Given the description of an element on the screen output the (x, y) to click on. 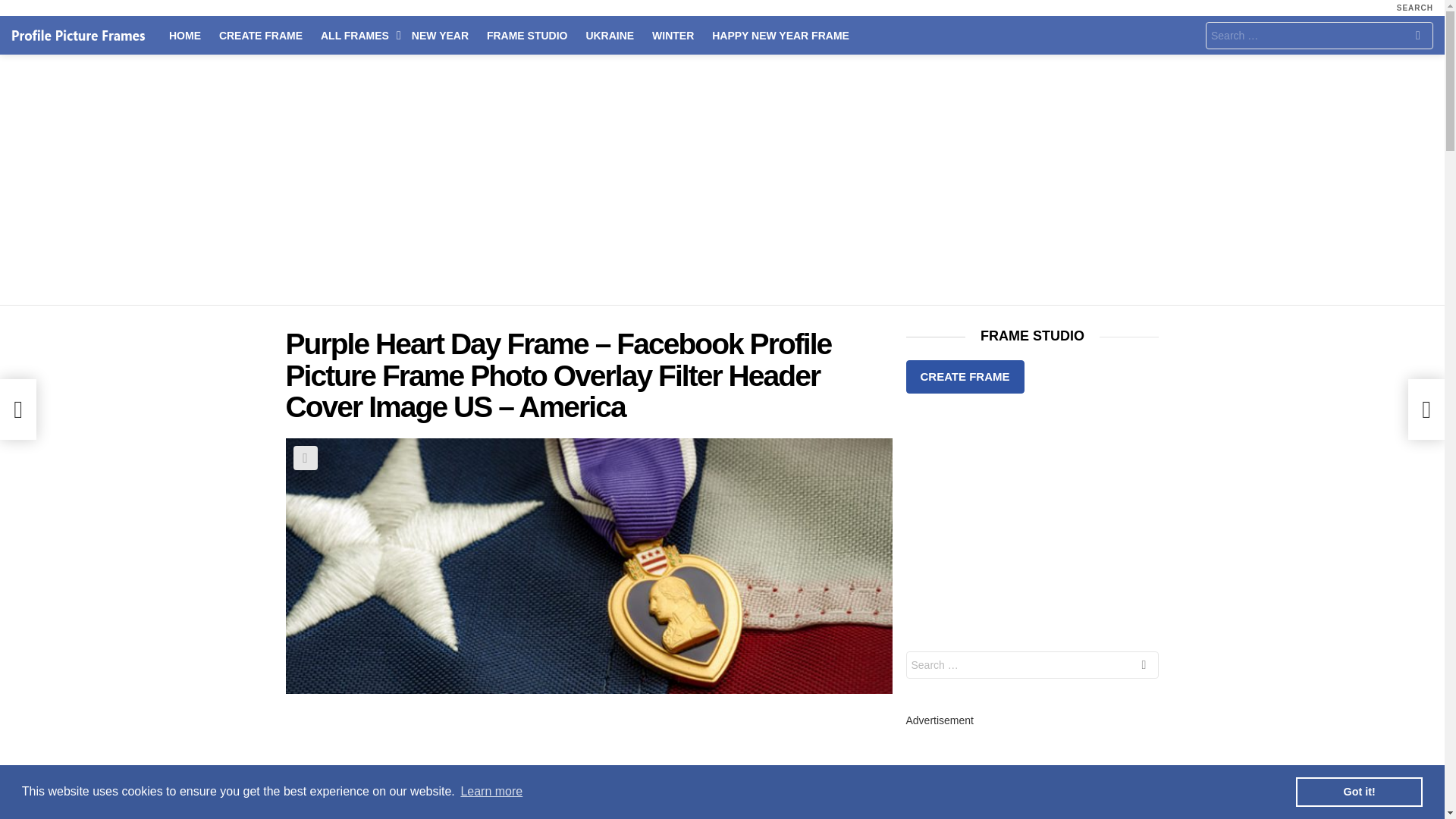
Learn more (491, 791)
SEARCH (1414, 7)
Got it! (1358, 791)
HOME (184, 35)
CREATE FRAME (260, 35)
ALL FRAMES (357, 35)
Advertisement (588, 764)
Search for: (1318, 35)
